Given the description of an element on the screen output the (x, y) to click on. 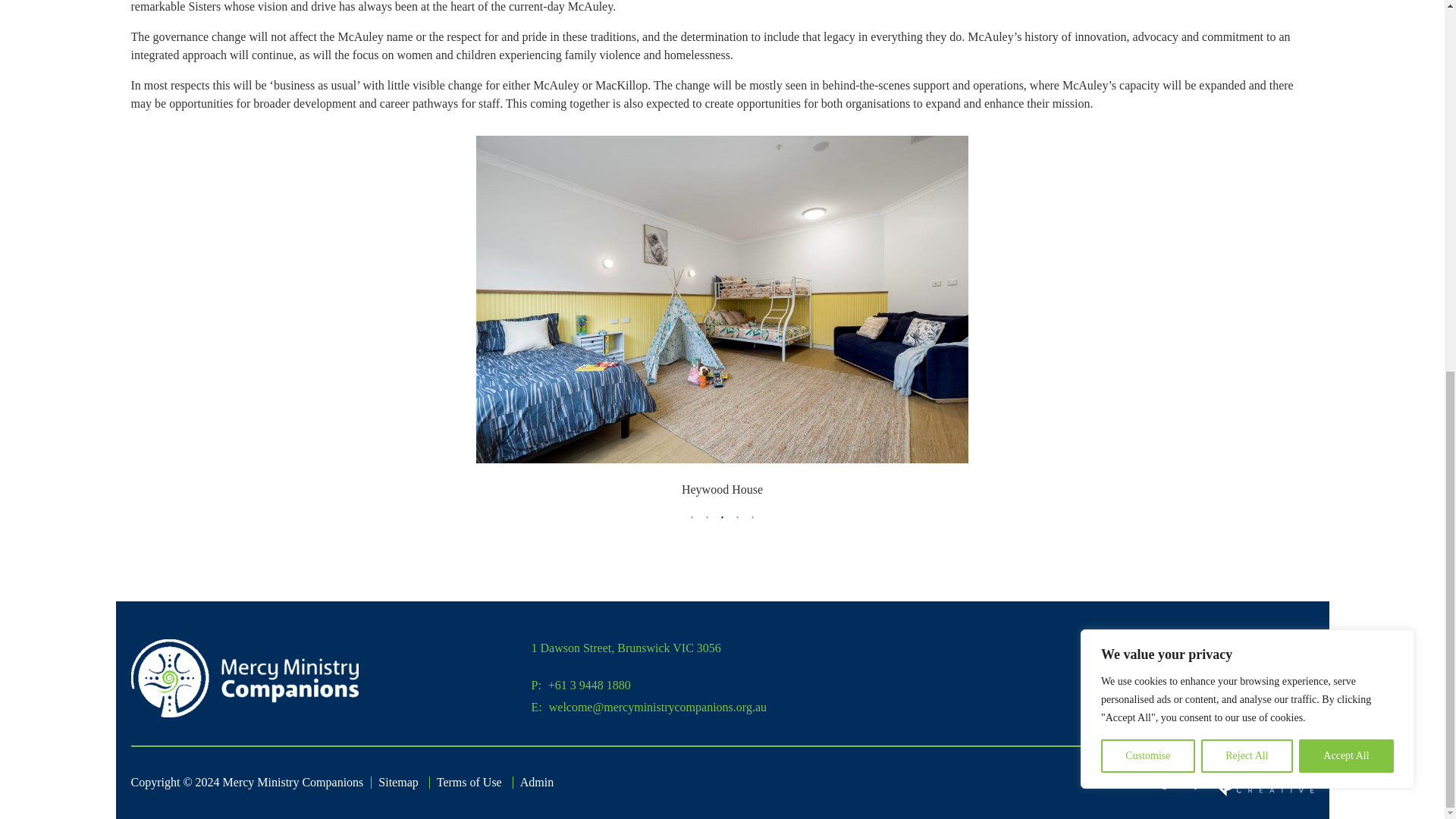
Customise (1147, 79)
Accept All (1345, 79)
Reject All (1246, 79)
